Given the description of an element on the screen output the (x, y) to click on. 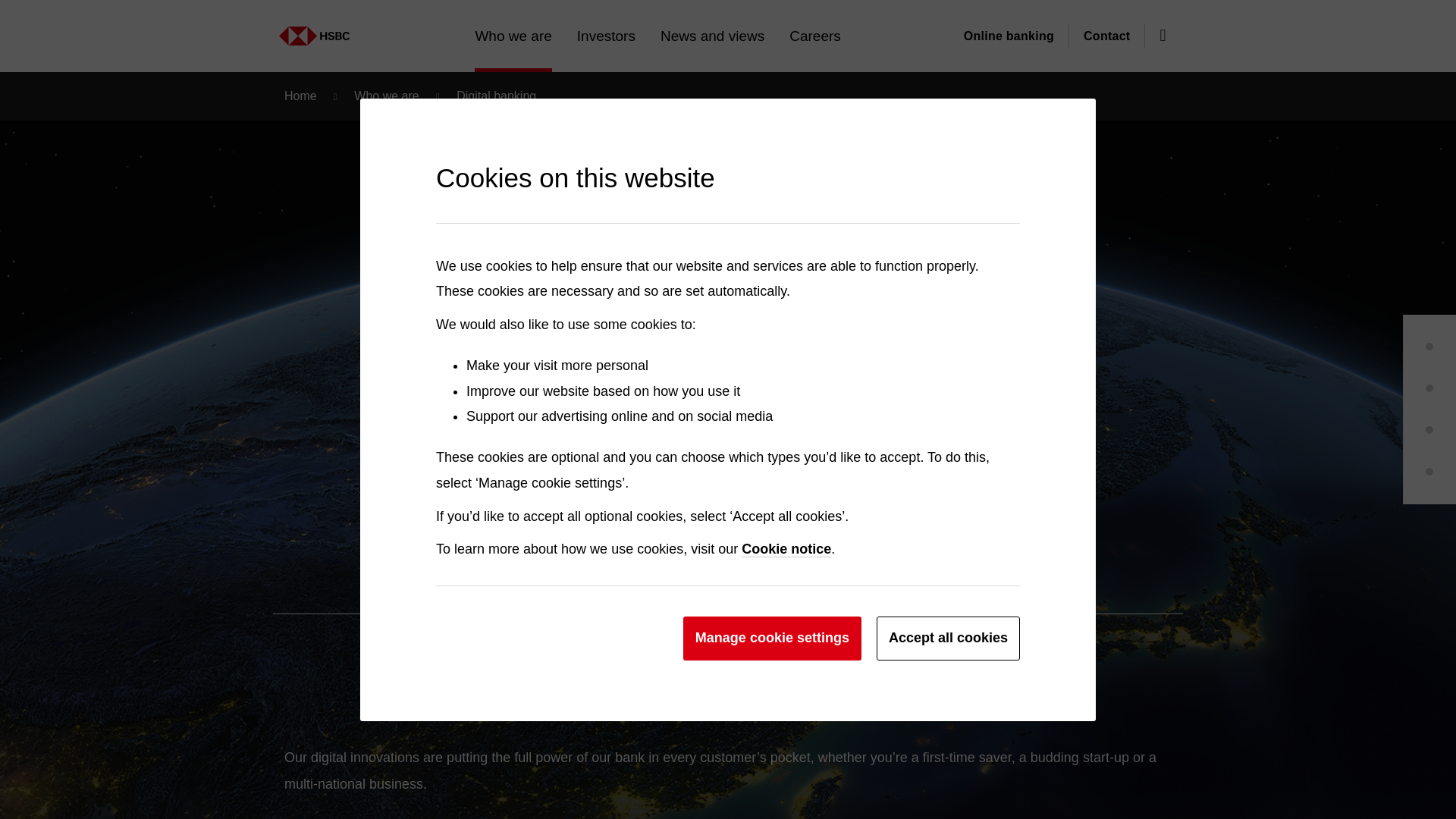
Who we are (512, 36)
Home (155, 28)
